Given the description of an element on the screen output the (x, y) to click on. 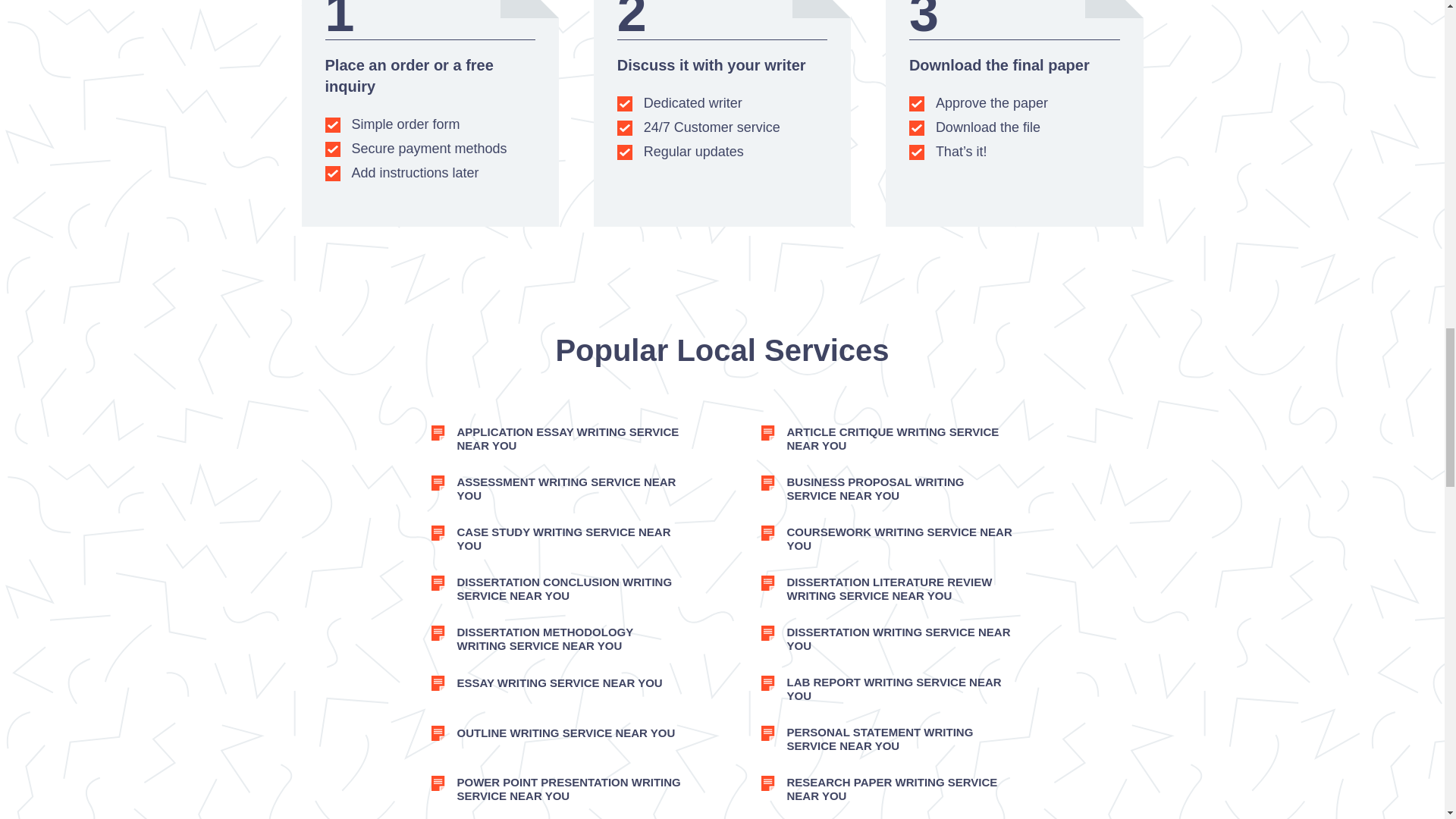
LAB REPORT WRITING SERVICE NEAR YOU (886, 689)
BUSINESS PROPOSAL WRITING SERVICE NEAR YOU (886, 489)
PERSONAL STATEMENT WRITING SERVICE NEAR YOU (886, 739)
COURSEWORK WRITING SERVICE NEAR YOU (886, 539)
ESSAY WRITING SERVICE NEAR YOU (557, 682)
TERM PAPER WRITING SERVICE NEAR YOU (886, 816)
ASSESSMENT WRITING SERVICE NEAR YOU (557, 489)
DISSERTATION LITERATURE REVIEW WRITING SERVICE NEAR YOU (886, 589)
DISSERTATION WRITING SERVICE NEAR YOU (886, 639)
POWER POINT PRESENTATION WRITING SERVICE NEAR YOU (557, 789)
